Given the description of an element on the screen output the (x, y) to click on. 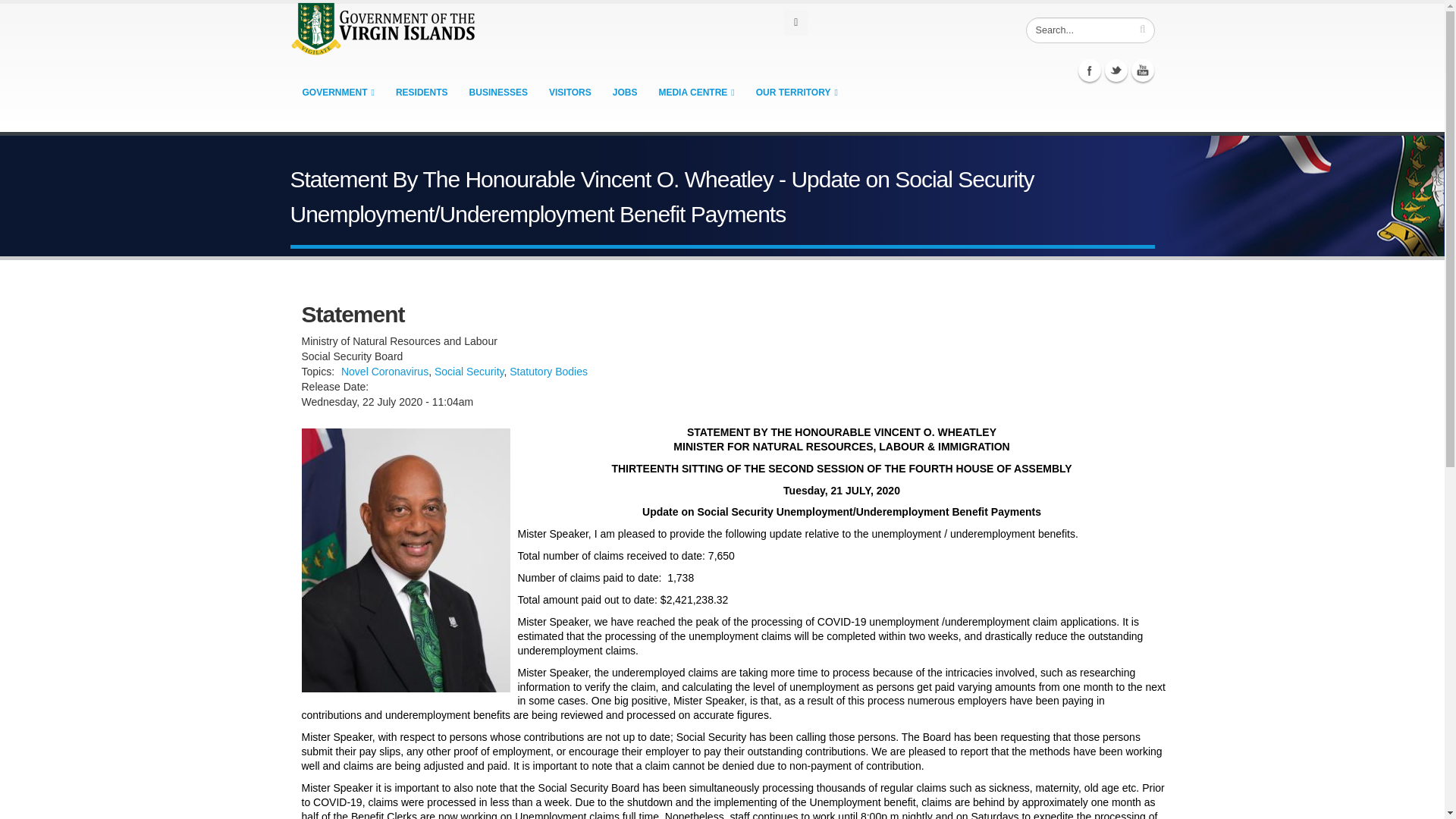
youtube (1142, 69)
Home (383, 26)
Facebook (1089, 69)
RESIDENTS (421, 91)
Enter the terms you wish to search for. (1089, 30)
VISITORS (569, 91)
Twitter (1115, 69)
JOBS (624, 91)
BUSINESSES (498, 91)
Search... (1089, 30)
MEDIA CENTRE (695, 91)
GOVERNMENT (338, 91)
Twitter (1115, 69)
Youtube (1142, 69)
Facebook (1089, 69)
